Given the description of an element on the screen output the (x, y) to click on. 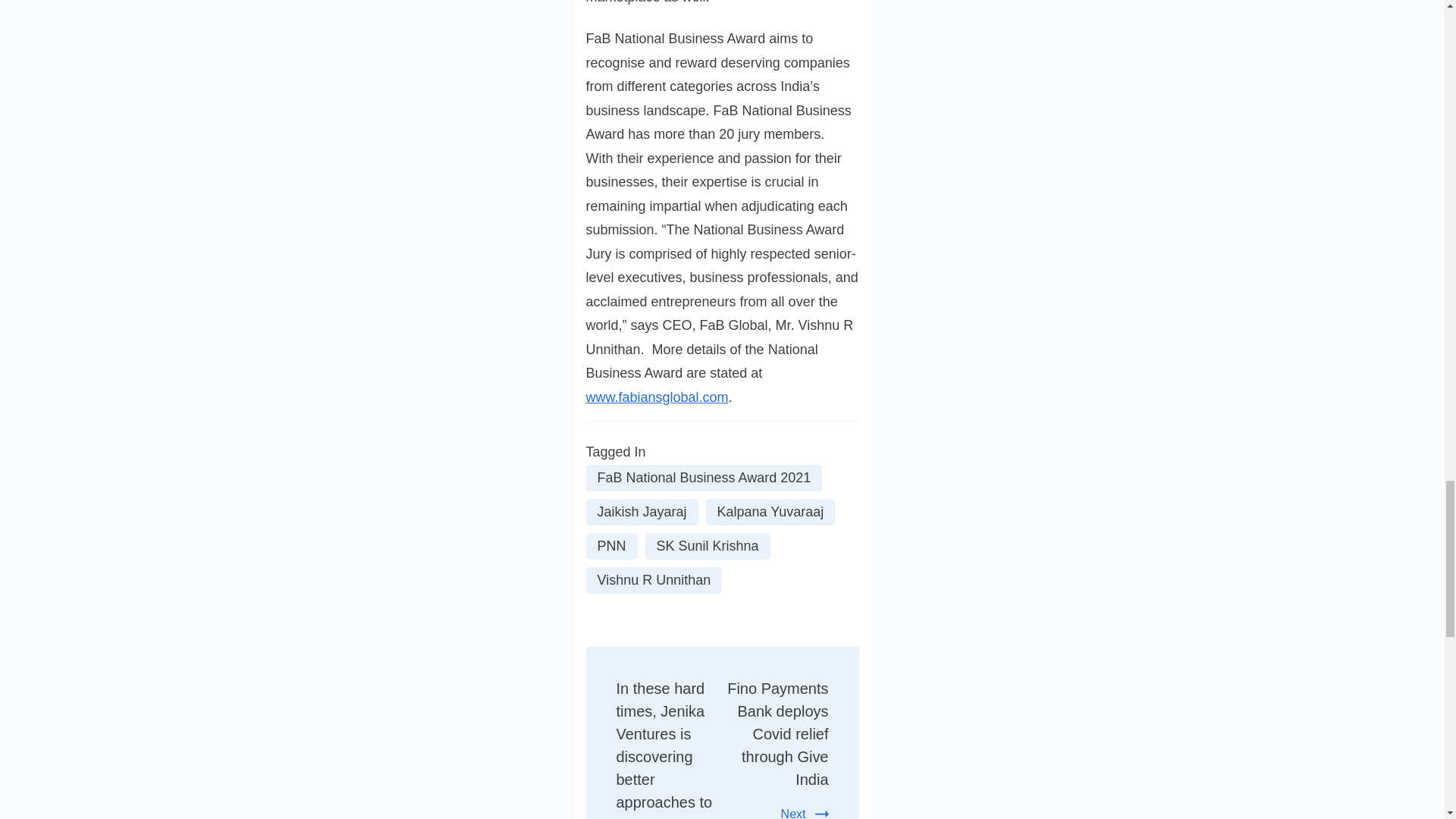
SK Sunil Krishna (707, 546)
Fino Payments Bank deploys Covid relief through Give India (777, 733)
Next (804, 813)
Vishnu R Unnithan (653, 580)
FaB National Business Award 2021 (703, 478)
Kalpana Yuvaraaj (770, 511)
www.fabiansglobal.com (656, 396)
Jaikish Jayaraj (641, 511)
PNN (611, 546)
